Given the description of an element on the screen output the (x, y) to click on. 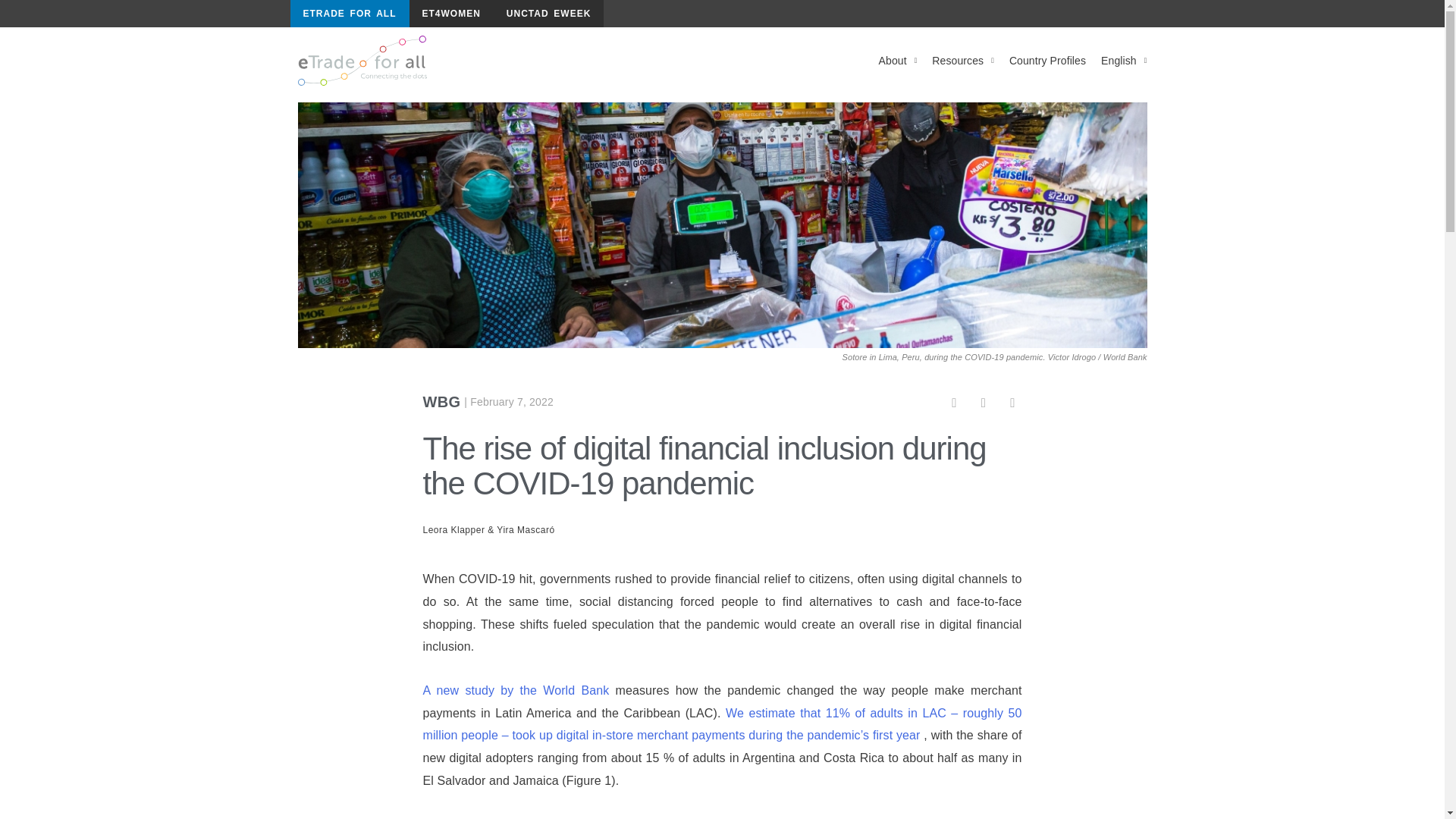
ET4WOMEN (451, 13)
About (897, 60)
UNCTAD EWEEK (548, 13)
English (1123, 60)
ETRADE FOR ALL (349, 13)
English (1123, 60)
Country Profiles (1047, 60)
Resources (962, 60)
